Given the description of an element on the screen output the (x, y) to click on. 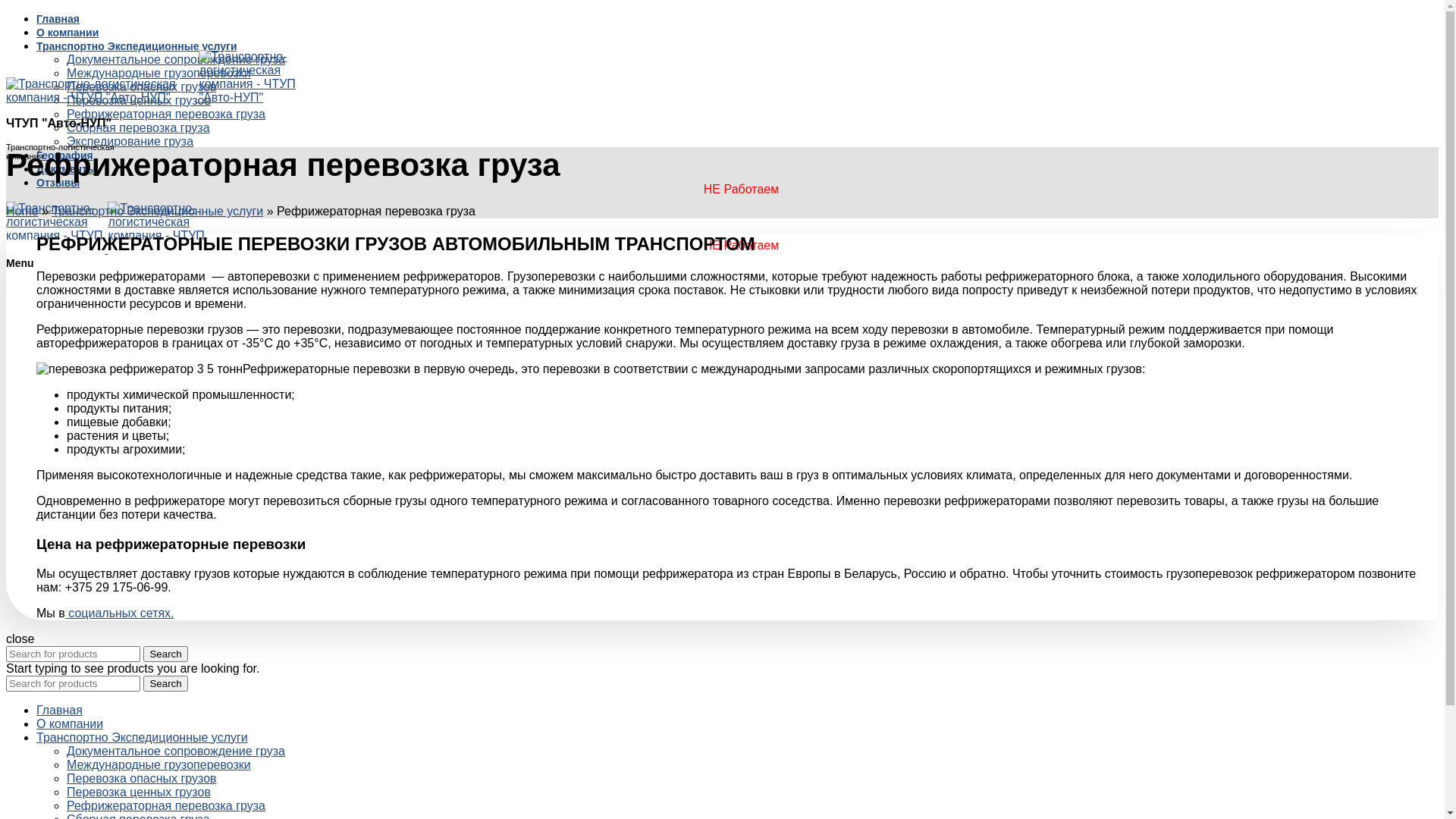
Search Element type: text (165, 682)
Home Element type: text (22, 210)
Search Element type: text (165, 654)
